Given the description of an element on the screen output the (x, y) to click on. 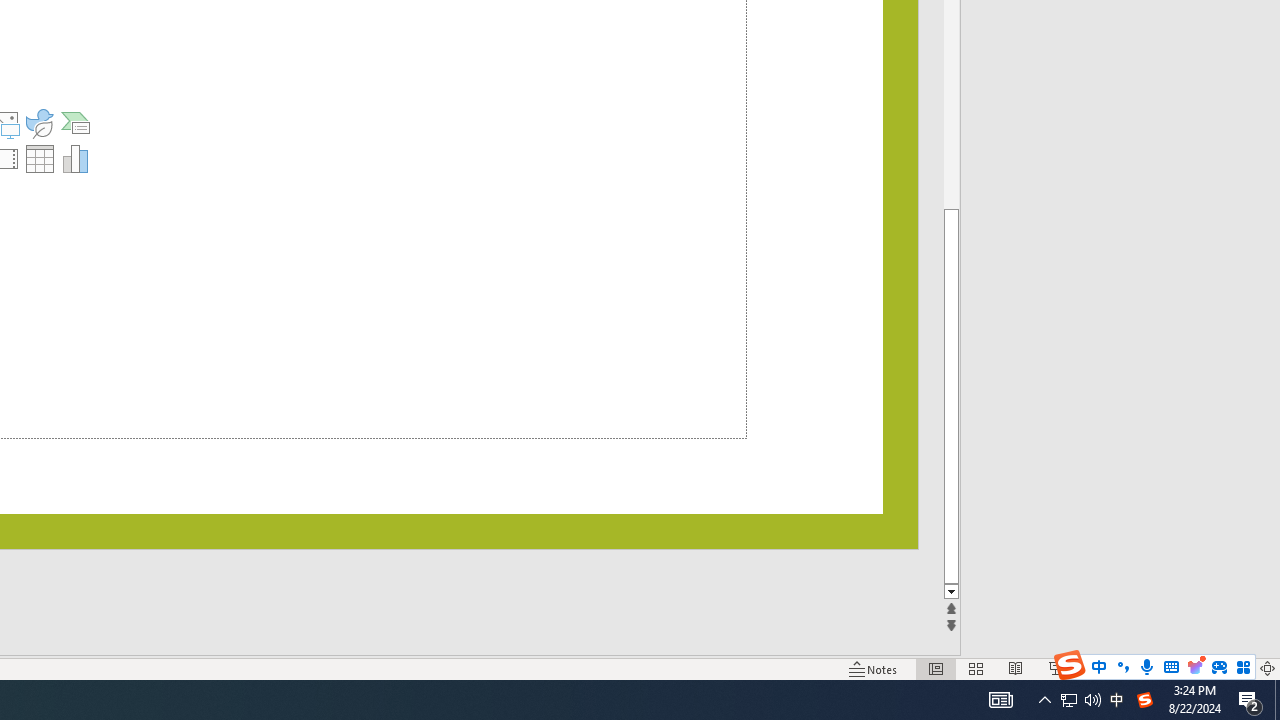
Zoom 140% (1234, 668)
